Given the description of an element on the screen output the (x, y) to click on. 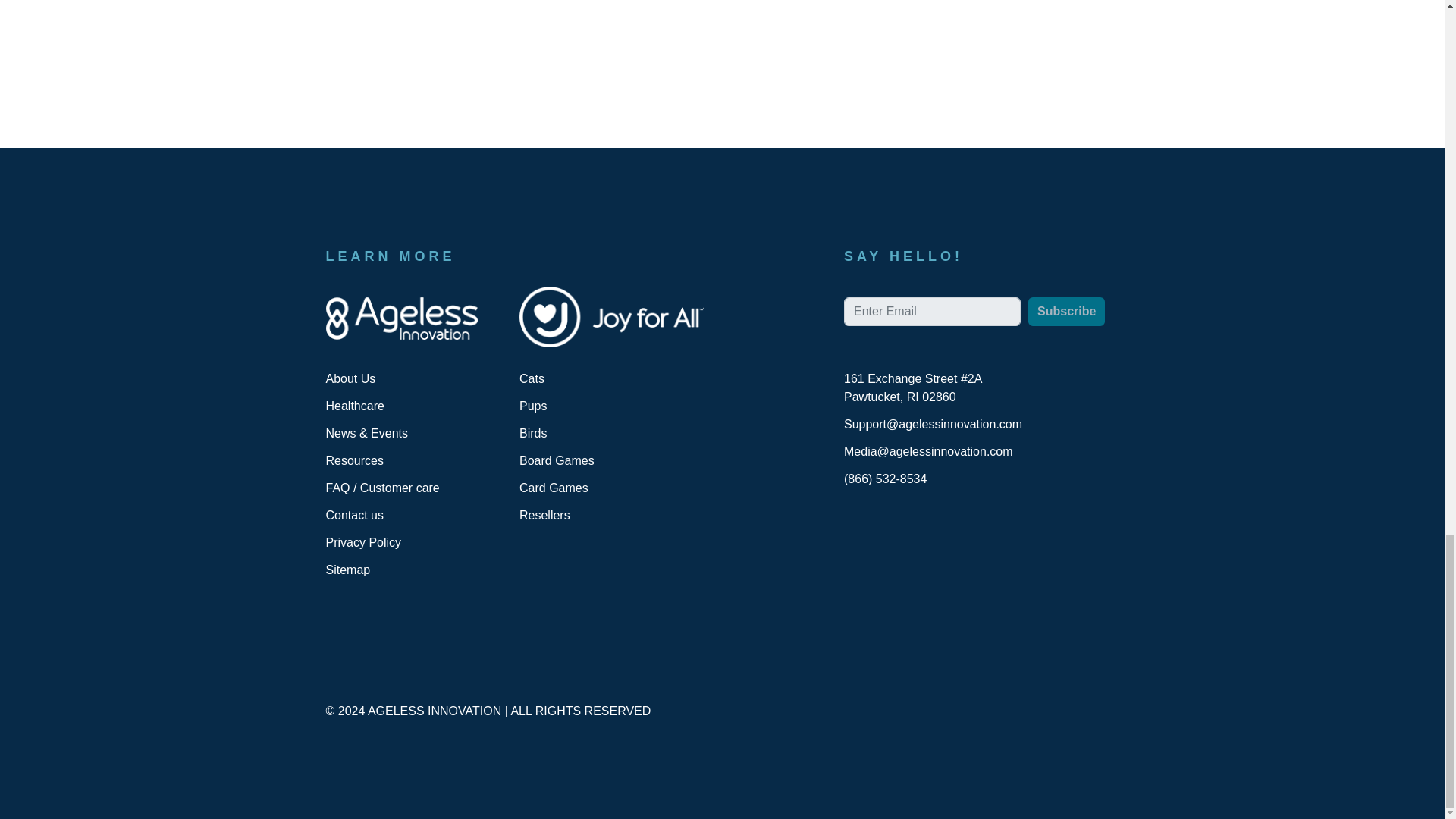
Privacy Policy (363, 542)
Pups (533, 404)
Contact us (355, 514)
Subscribe (1066, 335)
Resources (355, 460)
Sitemap (348, 569)
About Us (350, 378)
Cats (531, 377)
Healthcare (355, 405)
Birds (533, 431)
